Given the description of an element on the screen output the (x, y) to click on. 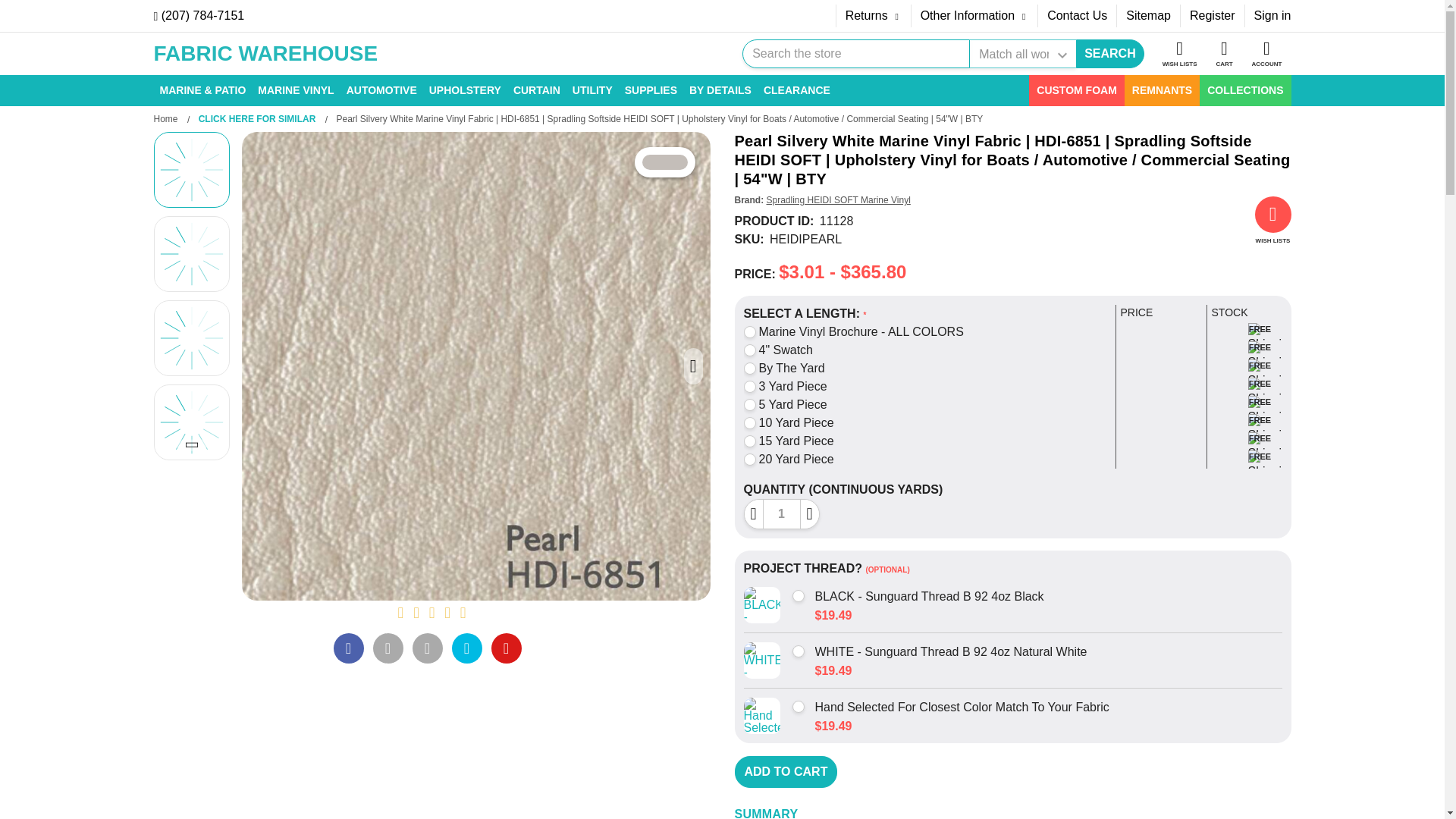
Register (1212, 15)
WISH LISTS (1180, 53)
Facebook (348, 648)
Twitter (466, 648)
SEARCH (1109, 53)
Other Information (974, 15)
Print (427, 648)
ACCOUNT (1265, 53)
FABRIC WAREHOUSE (264, 54)
